Given the description of an element on the screen output the (x, y) to click on. 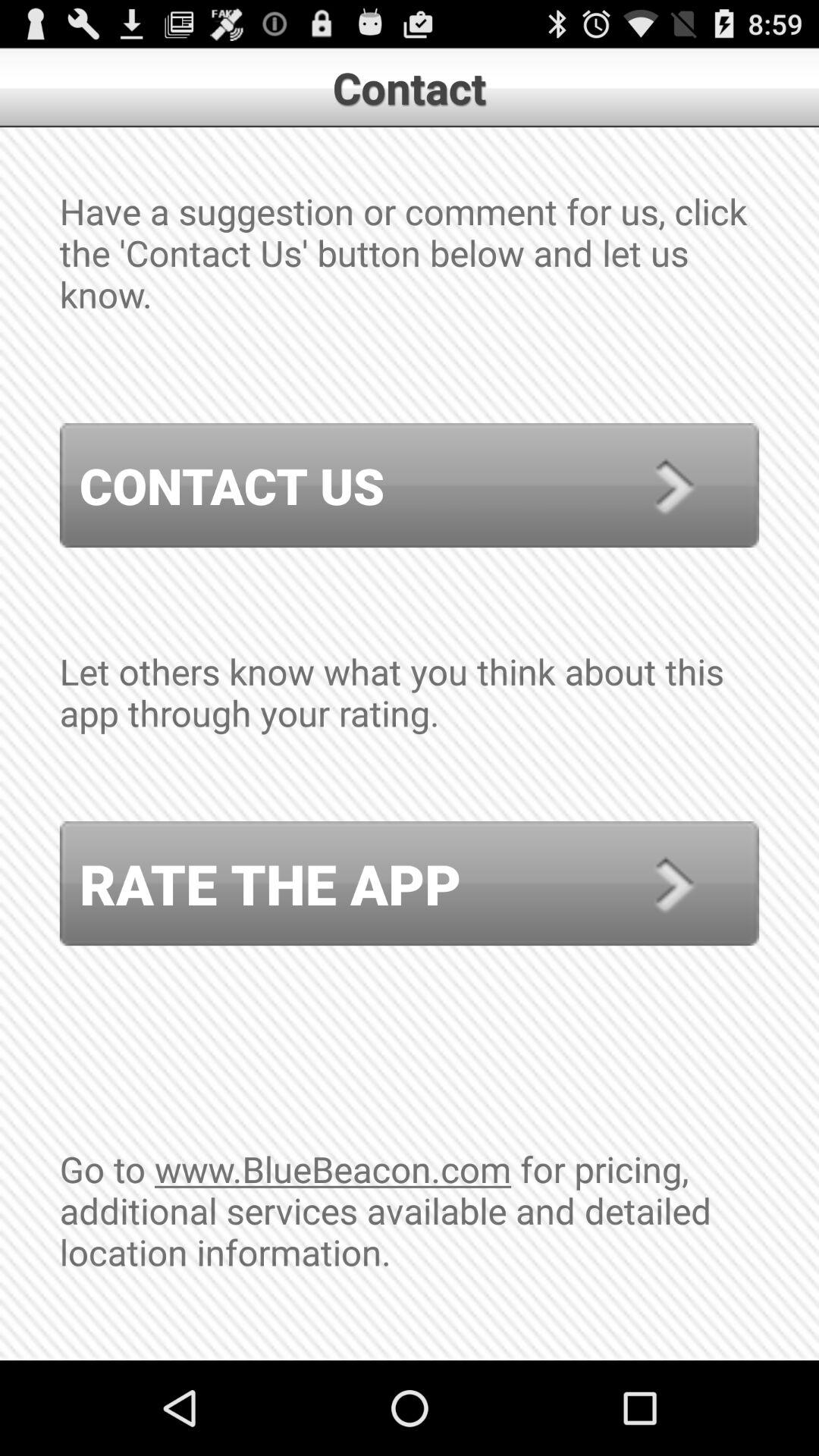
open the rate the app icon (409, 883)
